Given the description of an element on the screen output the (x, y) to click on. 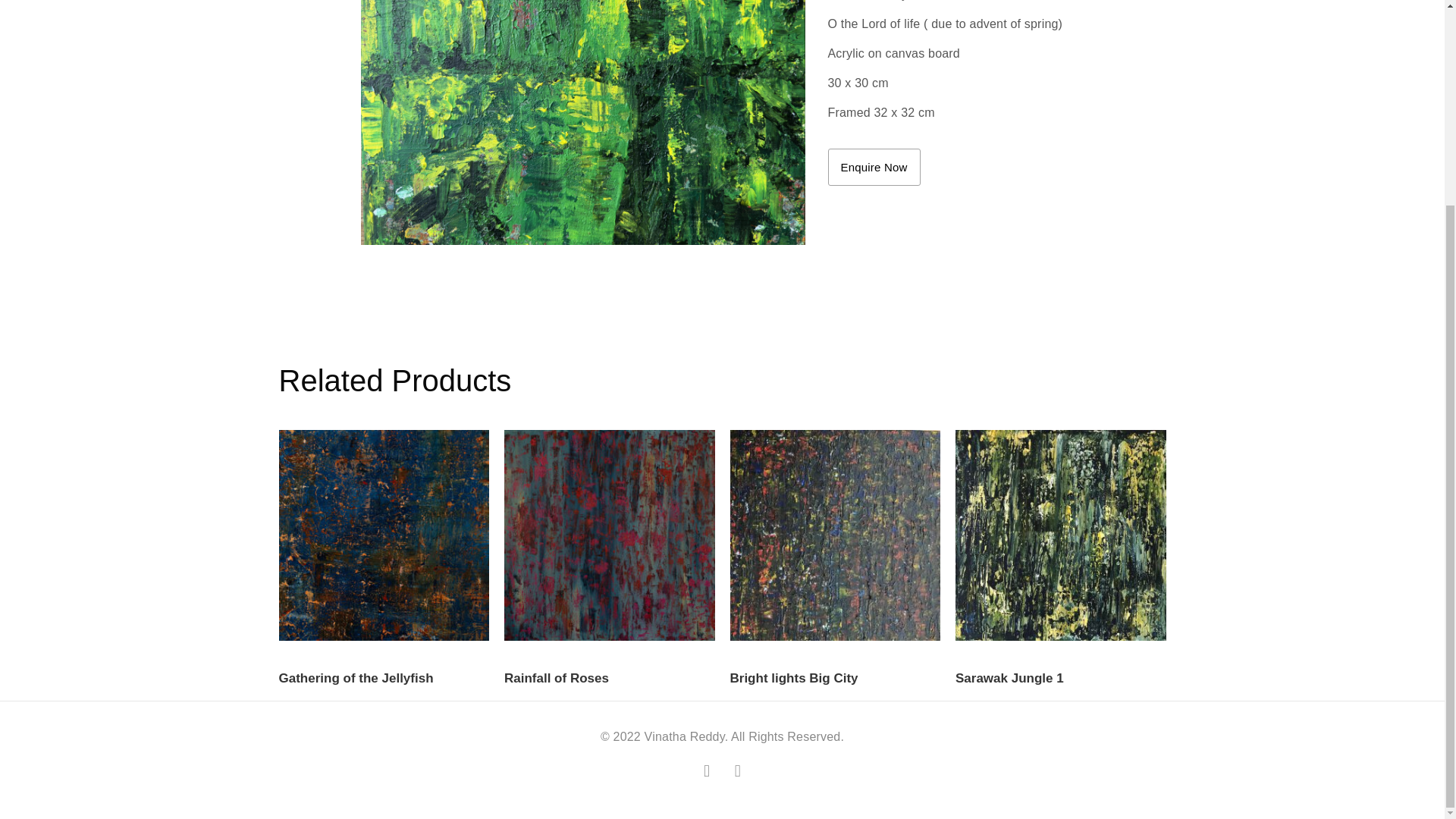
Search (1038, 145)
Enquire Now (874, 166)
